Given the description of an element on the screen output the (x, y) to click on. 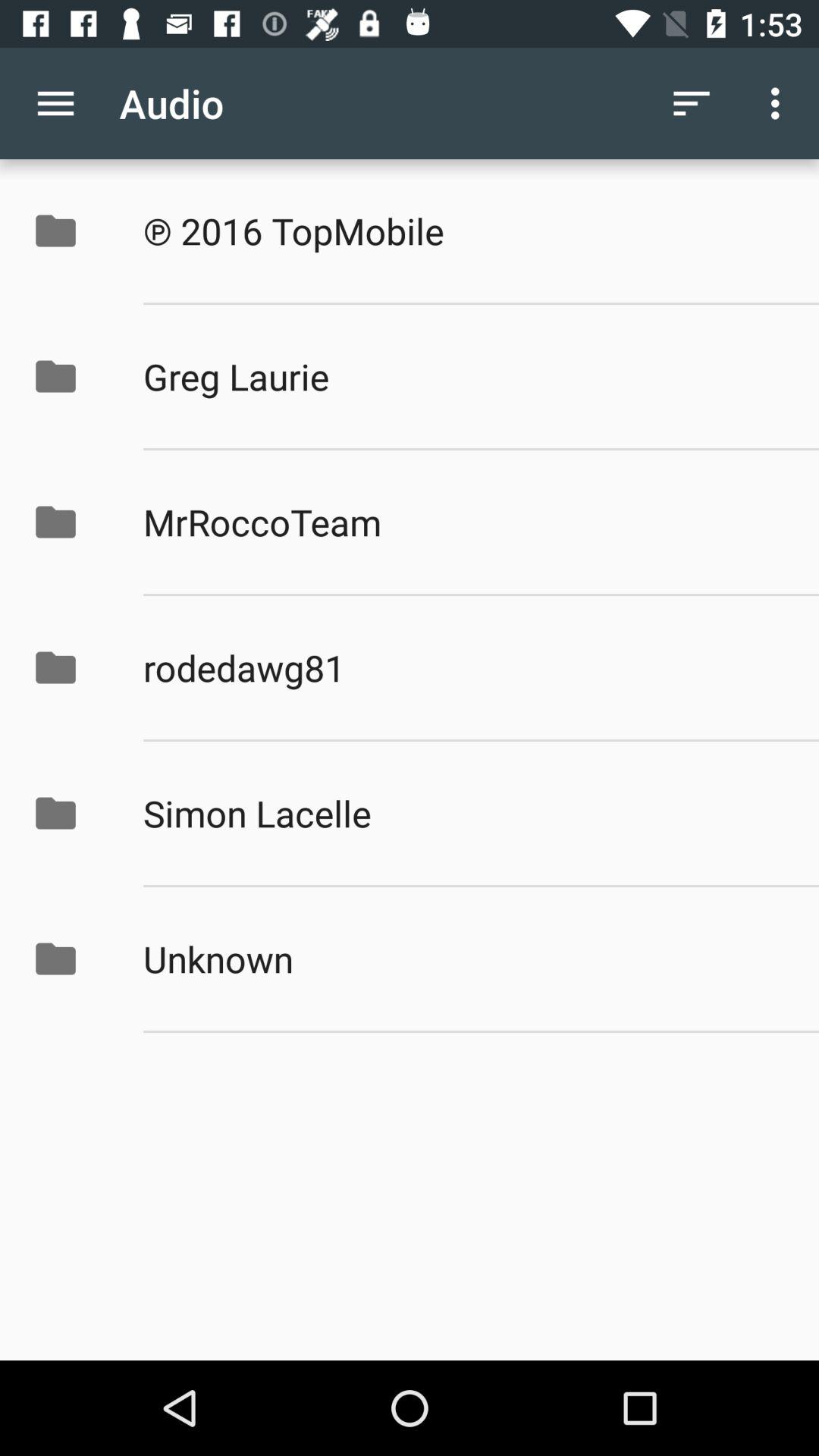
swipe until the mrroccoteam (465, 521)
